Given the description of an element on the screen output the (x, y) to click on. 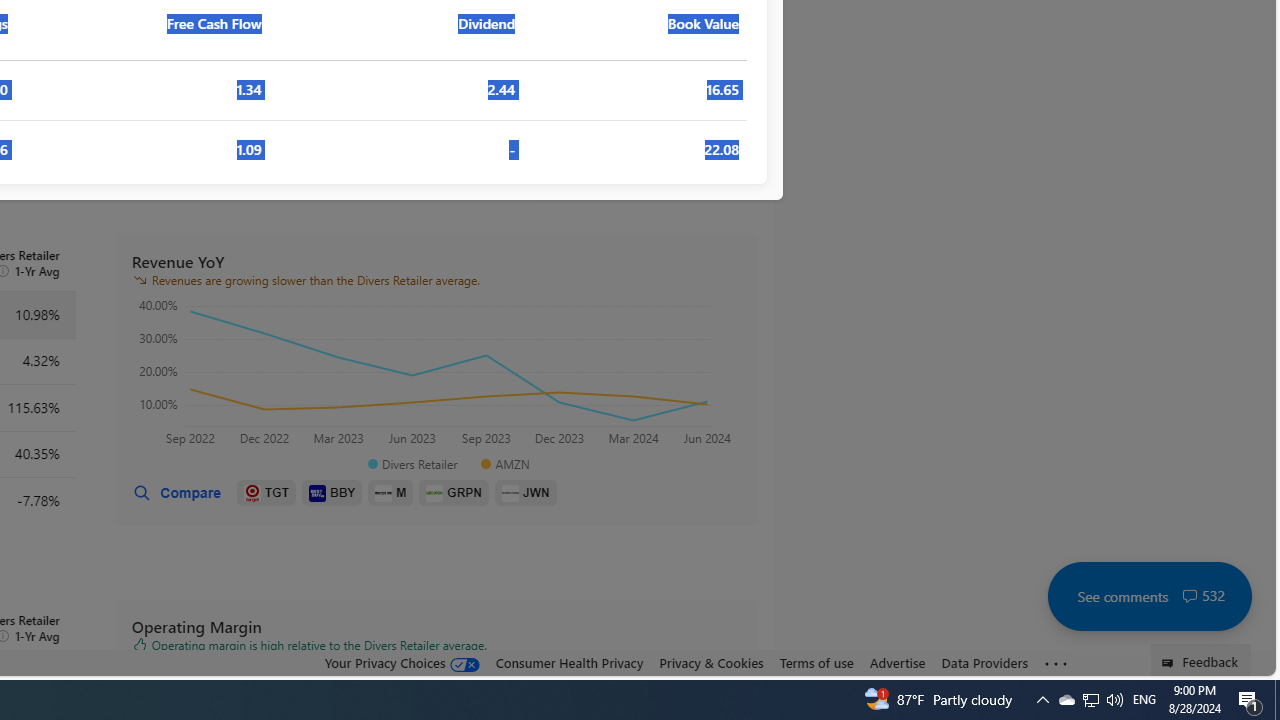
GRPN (454, 493)
JWN (525, 493)
Class: cwt-icon-vector (1190, 596)
Privacy & Cookies (711, 663)
Privacy & Cookies (711, 662)
Consumer Health Privacy (569, 663)
Terms of use (816, 663)
Advertise (897, 663)
Class: oneFooter_seeMore-DS-EntryPoint1-1 (1055, 663)
TGT (265, 493)
M (390, 493)
Advertise (897, 662)
Class: react-financial-charts (436, 375)
See comments 532 (1149, 596)
